Given the description of an element on the screen output the (x, y) to click on. 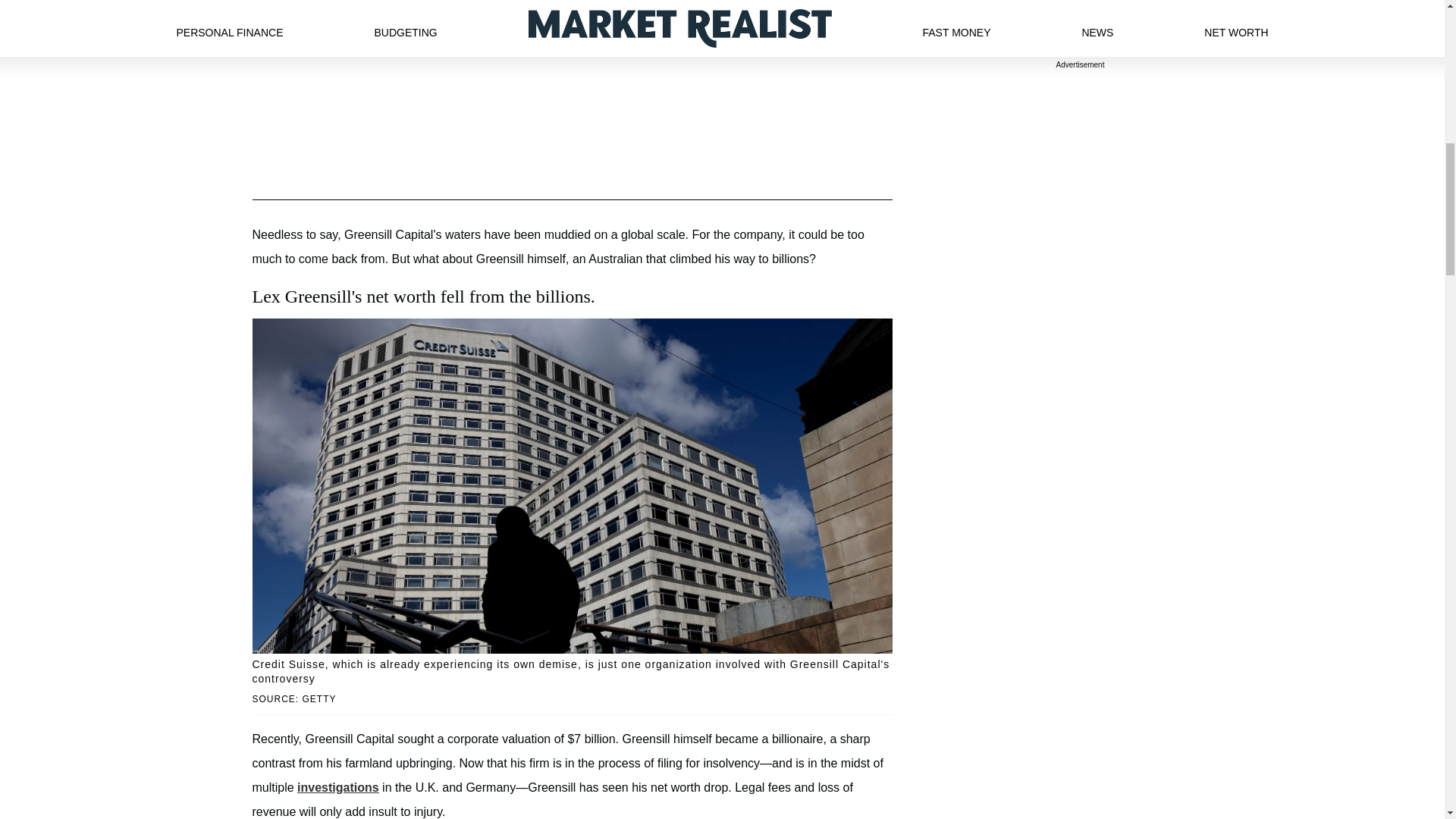
SOURCE: GETTY (571, 699)
investigations (337, 787)
